Given the description of an element on the screen output the (x, y) to click on. 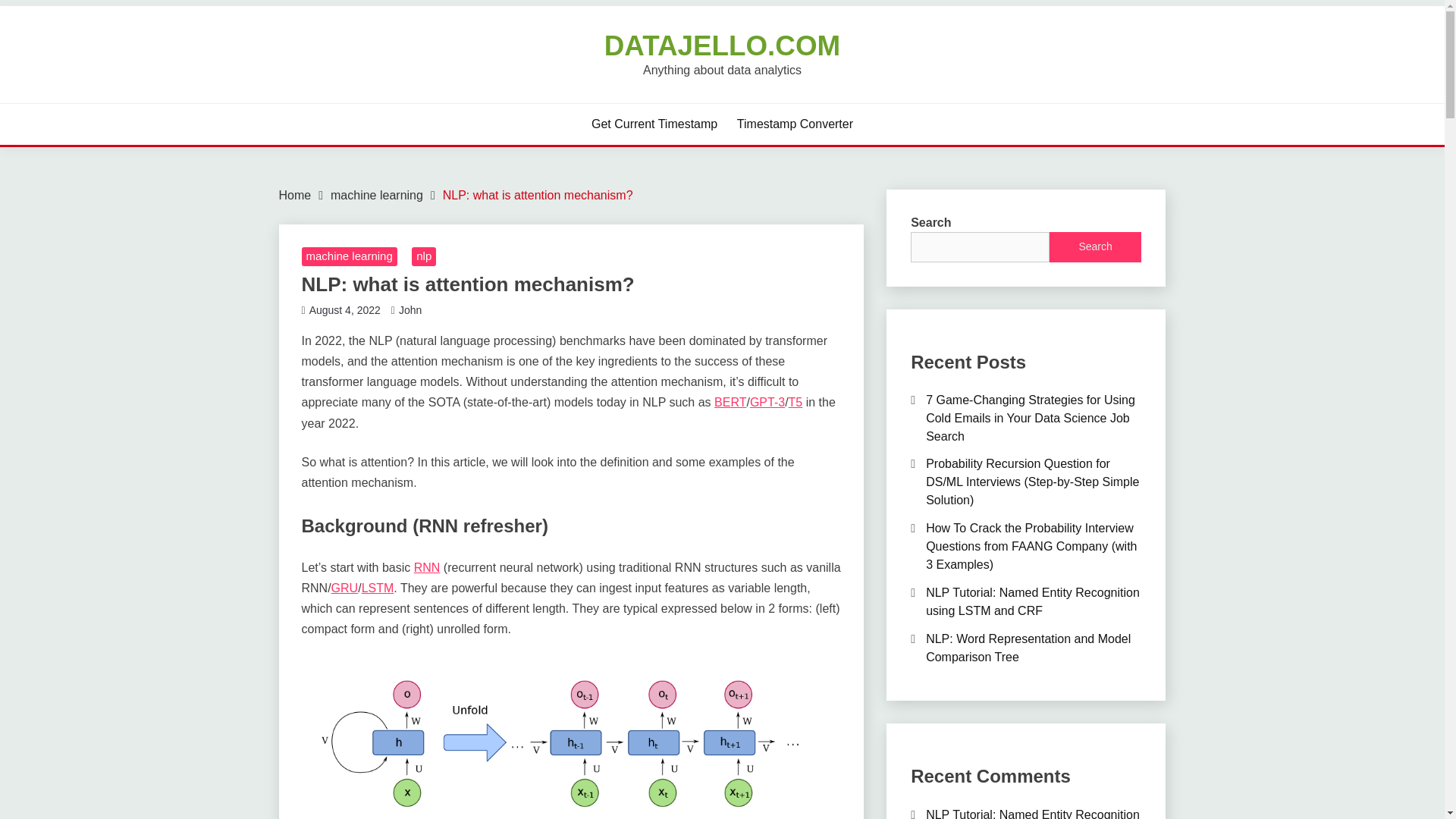
Home (295, 195)
LSTM (377, 587)
RNN (427, 567)
GRU (344, 587)
machine learning (376, 195)
T5 (796, 401)
BERT (729, 401)
machine learning (349, 256)
NLP: what is attention mechanism? (537, 195)
DATAJELLO.COM (722, 45)
